Given the description of an element on the screen output the (x, y) to click on. 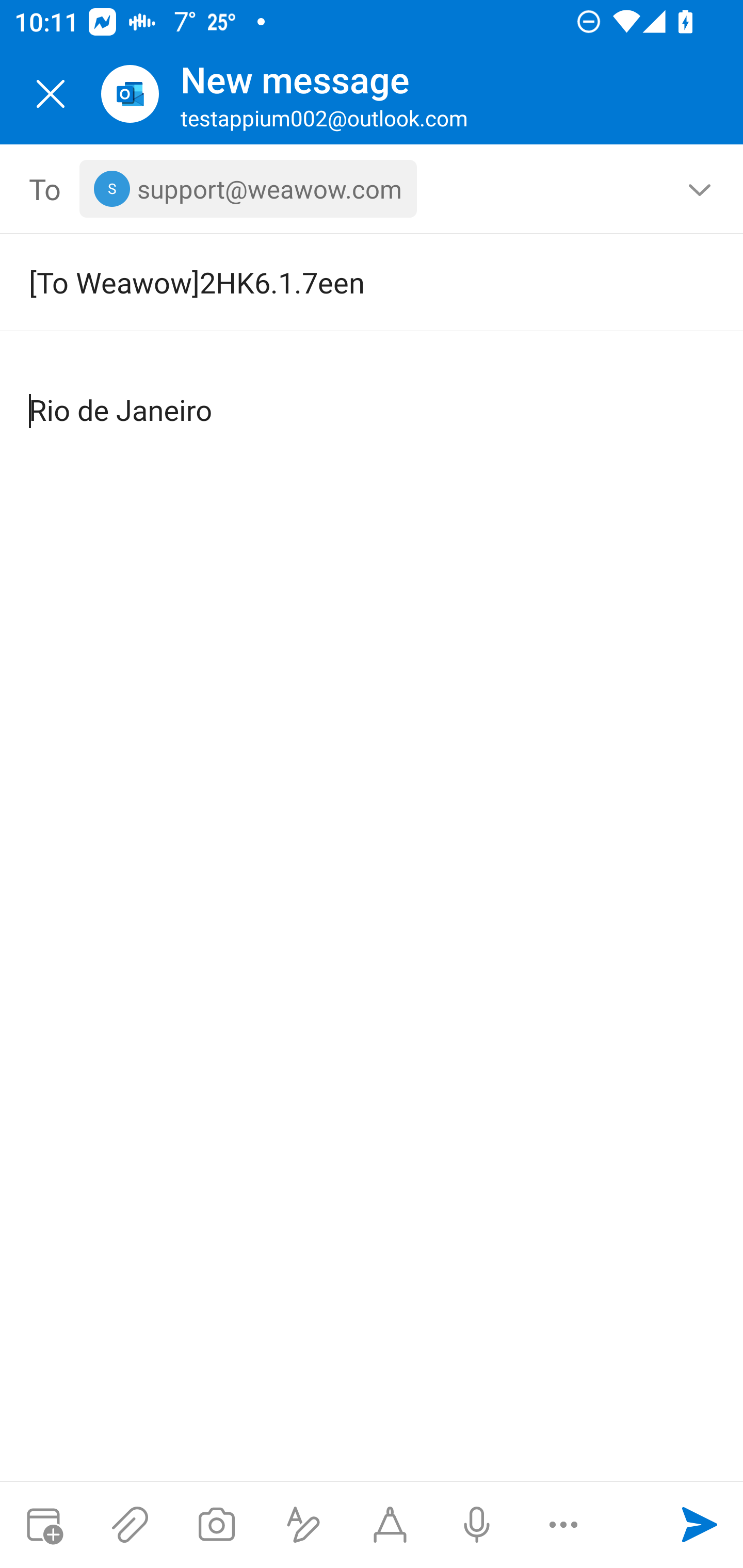
Close (50, 93)
[To Weawow]2HK6.1.7een (342, 281)

Rio de Janeiro (372, 394)
Attach meeting (43, 1524)
Attach files (129, 1524)
Take a photo (216, 1524)
Show formatting options (303, 1524)
Start Ink compose (389, 1524)
Dictation (476, 1524)
More options (563, 1524)
Send (699, 1524)
